Given the description of an element on the screen output the (x, y) to click on. 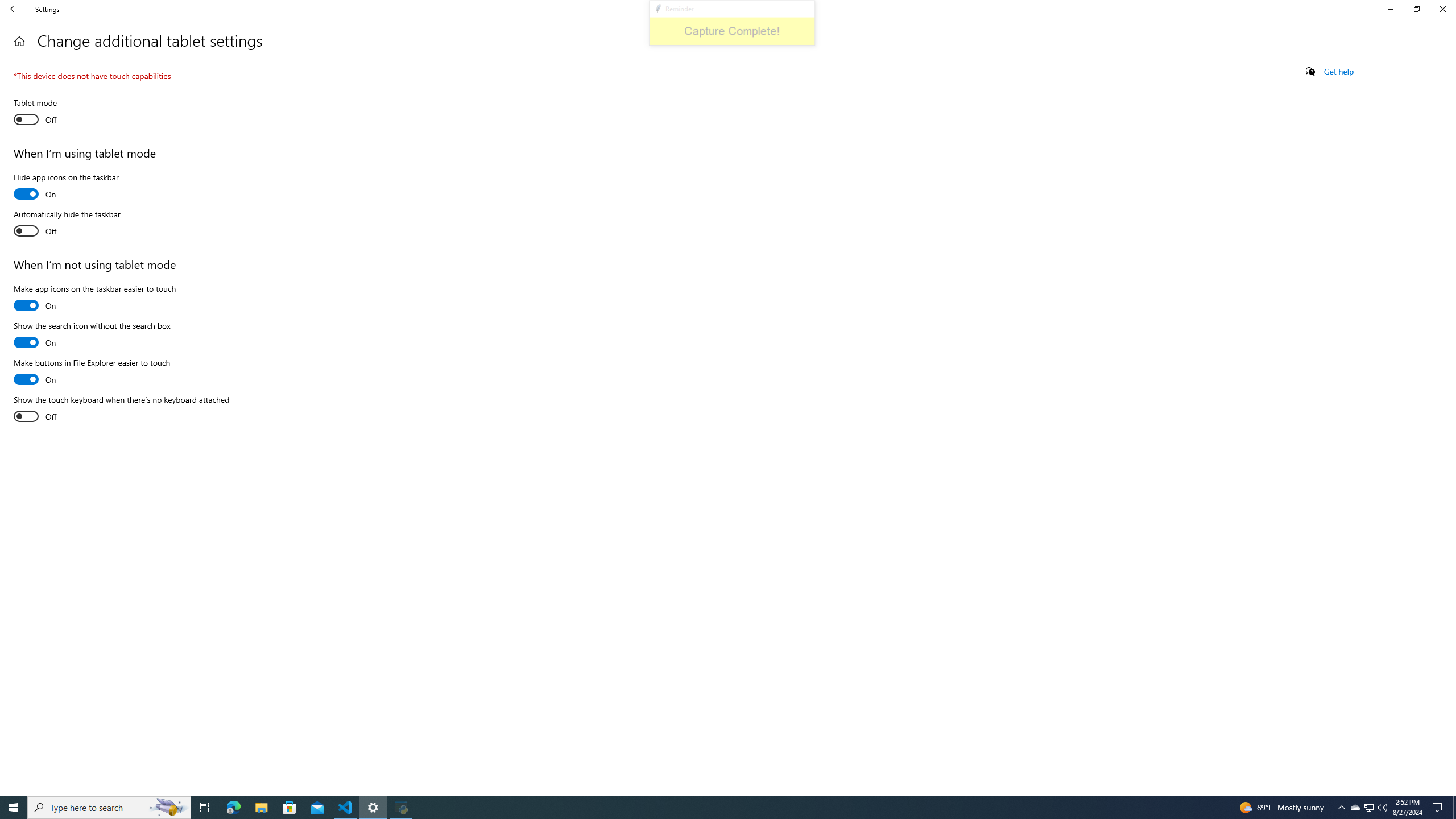
Running applications (717, 807)
Make buttons in File Explorer easier to touch (91, 372)
Minimize Settings (1390, 9)
Tablet mode (55, 112)
Get help (1338, 71)
Back (13, 9)
